Given the description of an element on the screen output the (x, y) to click on. 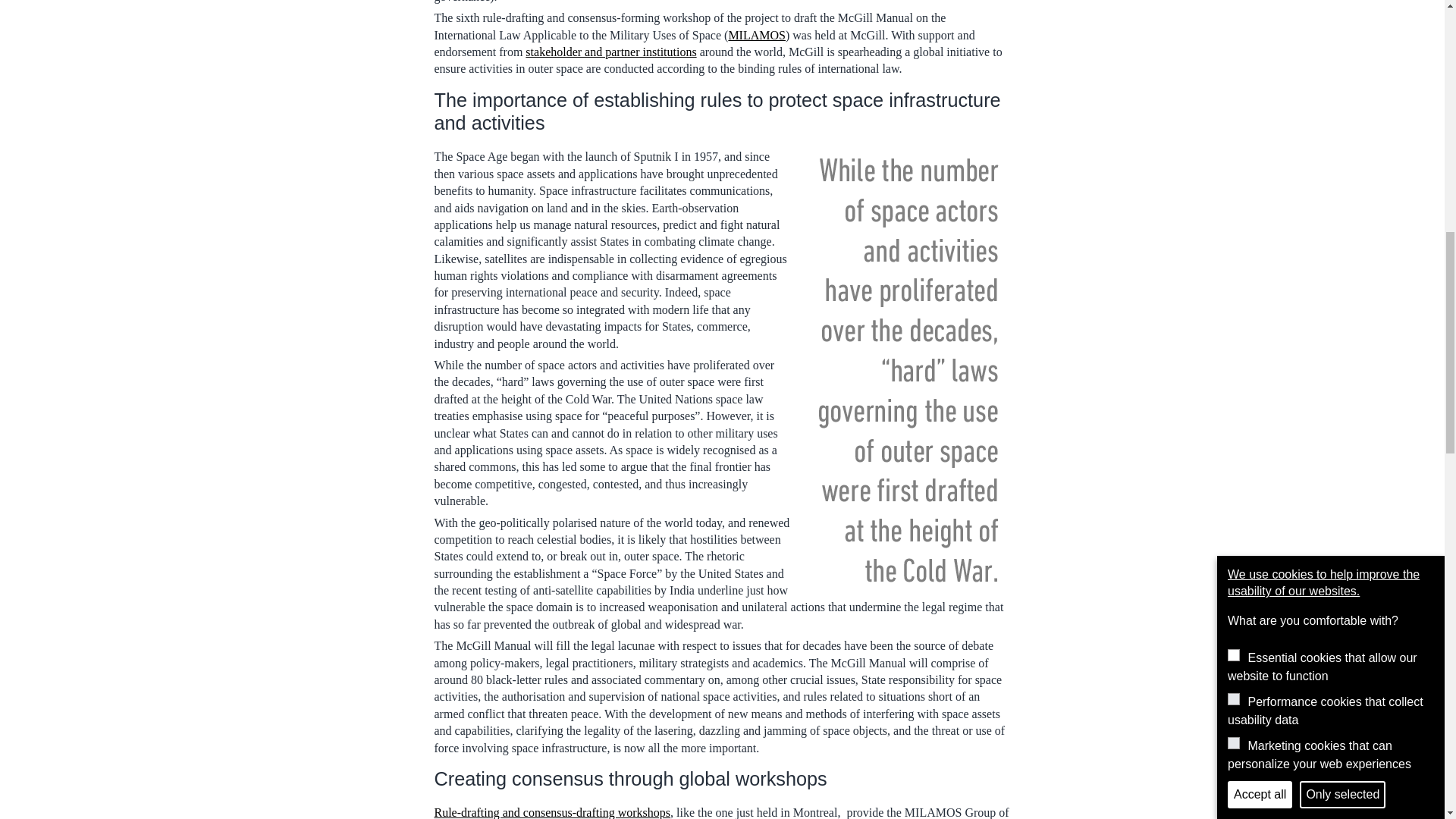
MILAMOS (757, 34)
Rule-drafting and consensus-drafting workshops (551, 812)
stakeholder and partner institutions (610, 51)
